Given the description of an element on the screen output the (x, y) to click on. 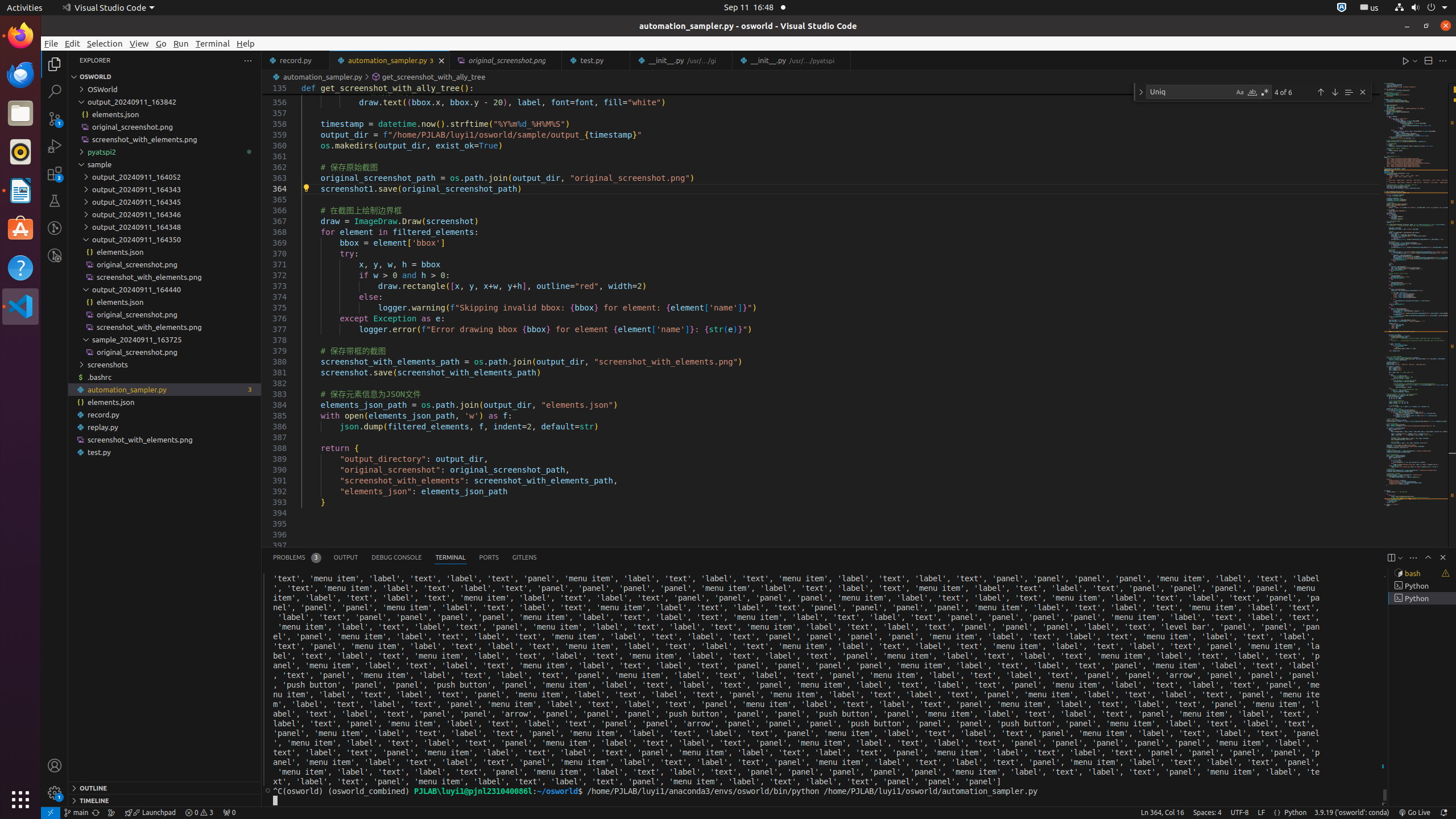
Run Element type: push-button (181, 43)
Previous Match (Shift+Enter) Element type: push-button (1320, 91)
record.py Element type: tree-item (164, 414)
3.9.19 ('osworld': conda), ~/anaconda3/envs/osworld/bin/python Element type: push-button (1351, 812)
Timeline Section Element type: push-button (164, 799)
